Given the description of an element on the screen output the (x, y) to click on. 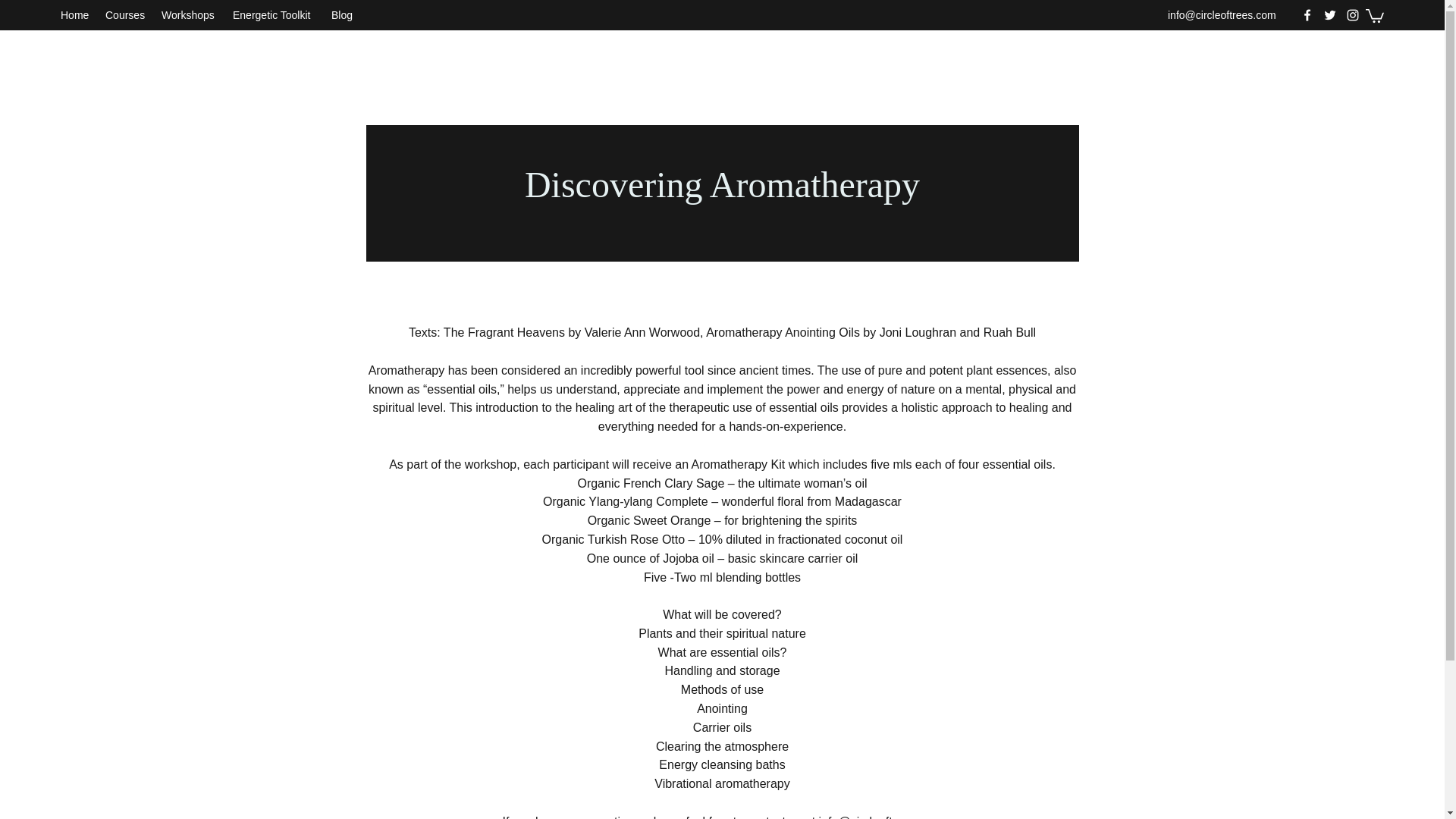
Courses (125, 15)
Workshops (189, 15)
Blog (342, 15)
Home (74, 15)
Energetic Toolkit (274, 15)
